Given the description of an element on the screen output the (x, y) to click on. 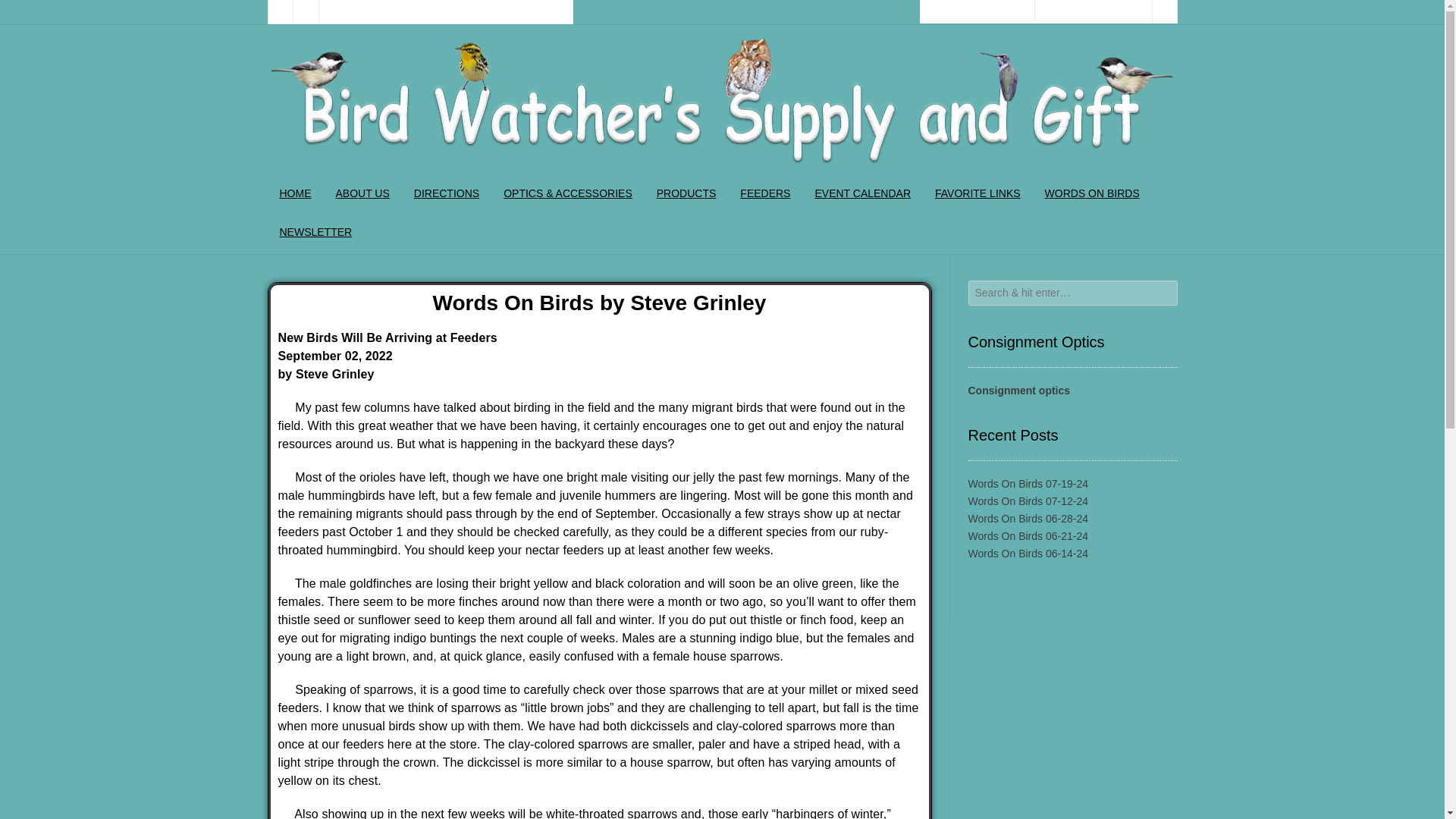
ABOUT US (362, 195)
DIRECTIONS (446, 195)
Find Us on Facebook (305, 12)
PRODUCTS (687, 195)
Send Us an Email (279, 12)
HOME (294, 195)
FEEDERS (765, 195)
